Given the description of an element on the screen output the (x, y) to click on. 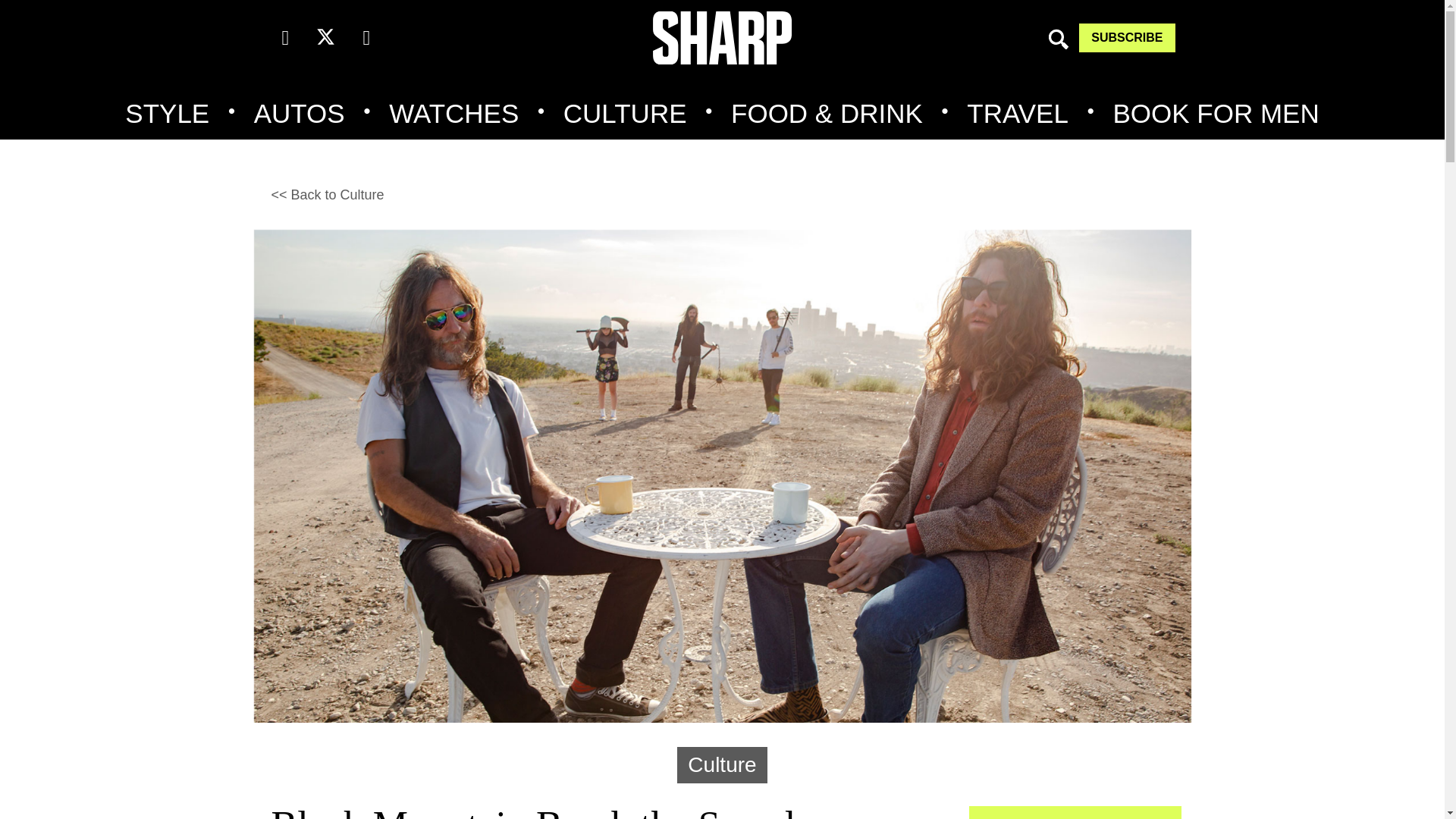
BOOK FOR MEN (1215, 114)
AUTOS (299, 114)
WATCHES (453, 114)
STYLE (167, 114)
TRAVEL (1017, 114)
CULTURE (625, 114)
SUBSCRIBE (1126, 37)
